Given the description of an element on the screen output the (x, y) to click on. 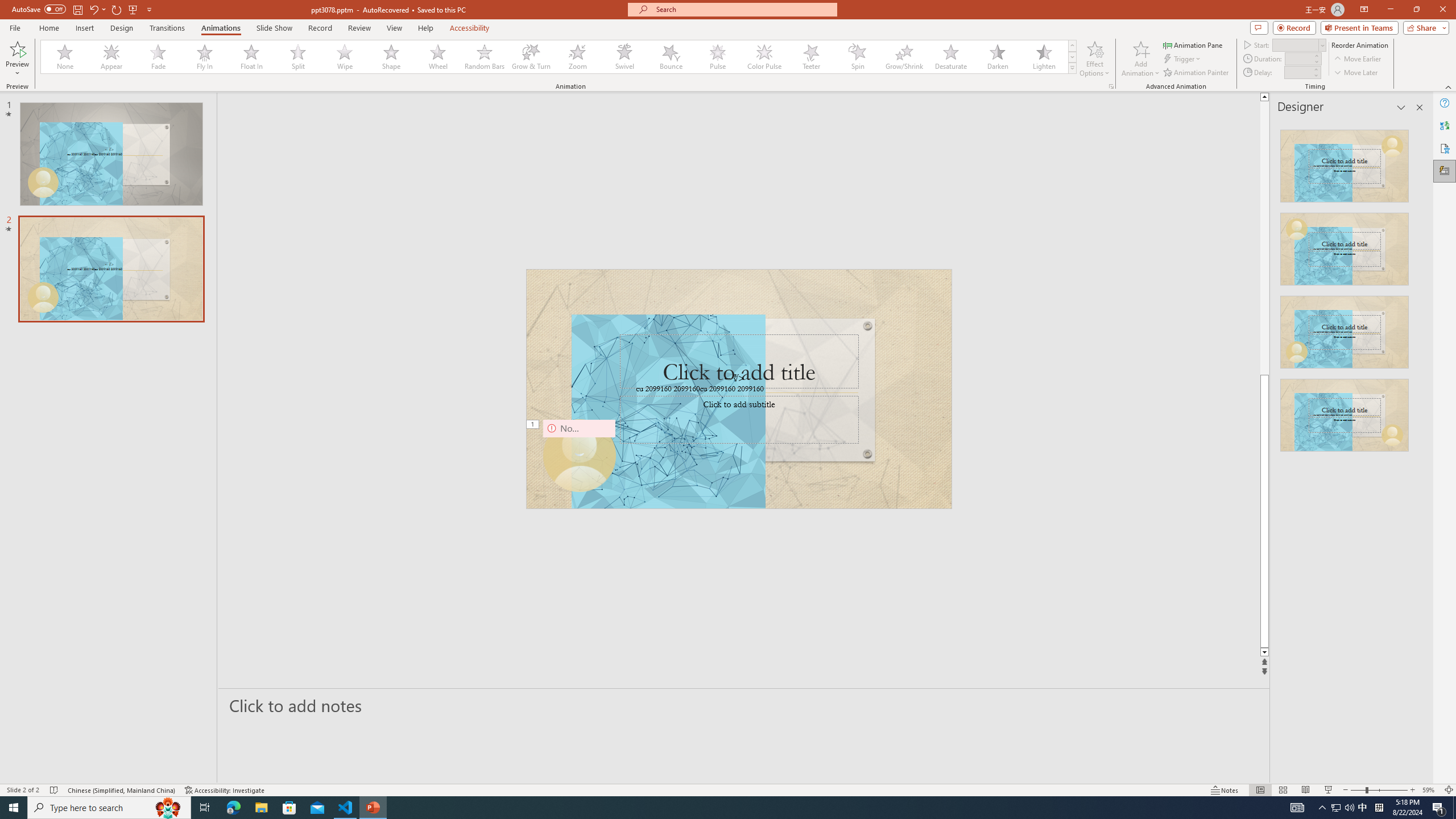
Appear (111, 56)
Animation Pane (1193, 44)
An abstract genetic concept (739, 388)
Animation Styles (1071, 67)
Camera 9, No camera detected. (578, 455)
Zoom 59% (1430, 790)
Animation Painter (1196, 72)
Darken (997, 56)
